Given the description of an element on the screen output the (x, y) to click on. 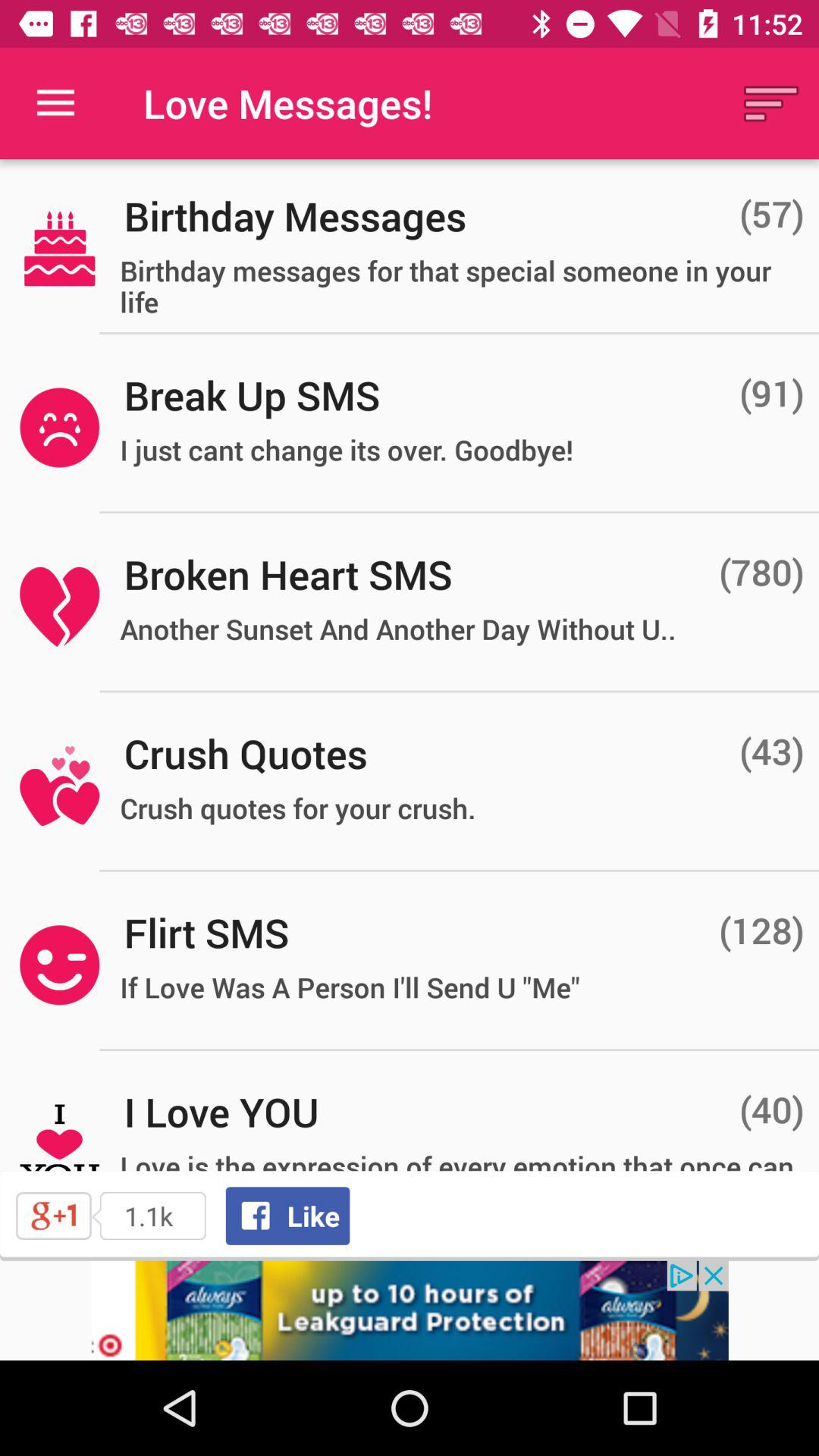
visit advertiser (409, 1310)
